Given the description of an element on the screen output the (x, y) to click on. 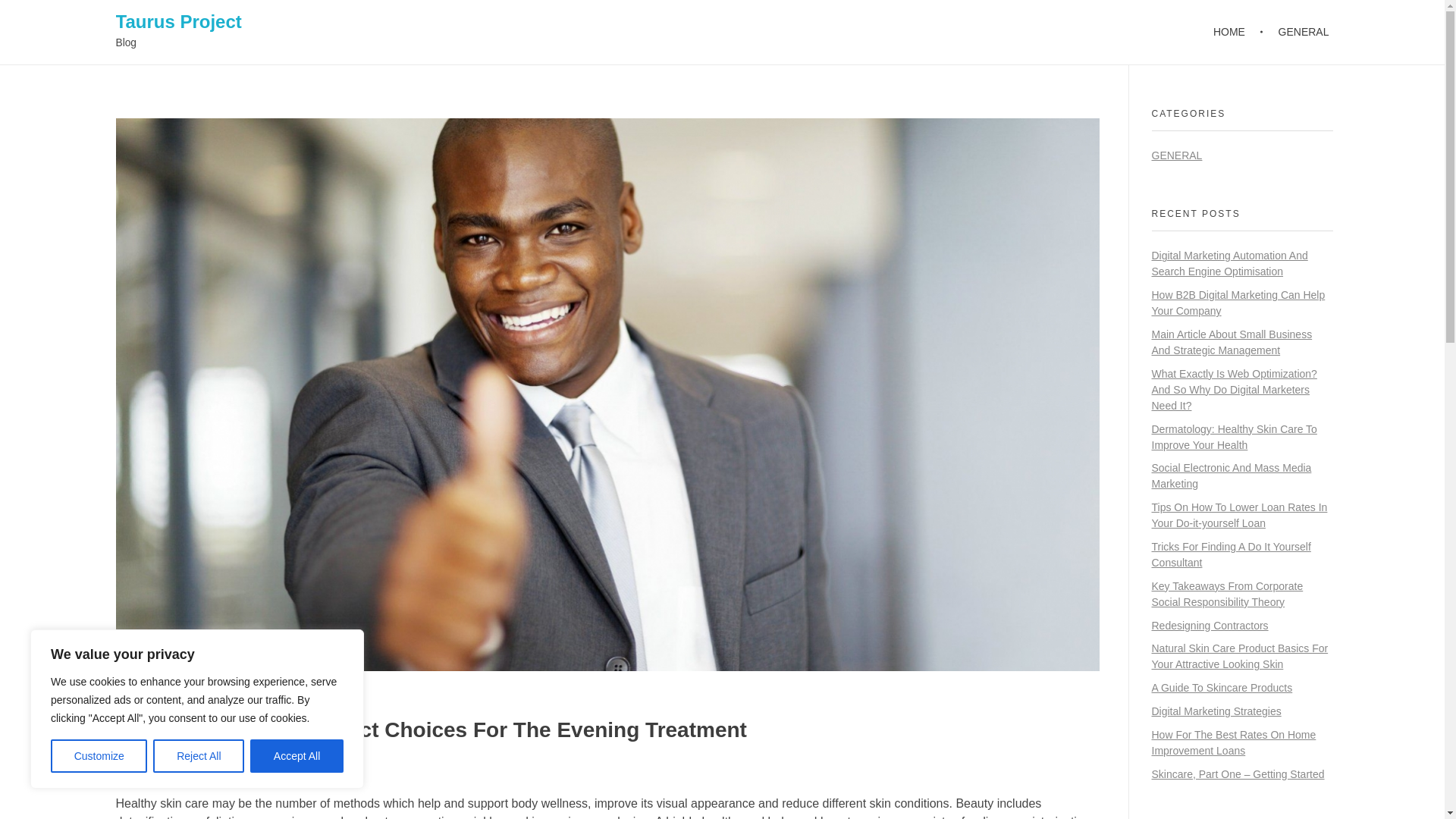
Key Takeaways From Corporate Social Responsibility Theory (1227, 593)
Reject All (198, 756)
Dermatology: Healthy Skin Care To Improve Your Health (1233, 437)
View all posts in General (276, 770)
Taurus Project (178, 21)
Main Article About Small Business And Strategic Management (1231, 342)
Tricks For Finding A Do It Yourself Consultant (1230, 554)
Customize (98, 756)
Social Electronic And Mass Media Marketing (1231, 475)
GENERAL (1295, 32)
Accept All (296, 756)
Tips On How To Lower Loan Rates In Your Do-it-yourself Loan (1238, 515)
How B2B Digital Marketing Can Help Your Company (1237, 302)
